Given the description of an element on the screen output the (x, y) to click on. 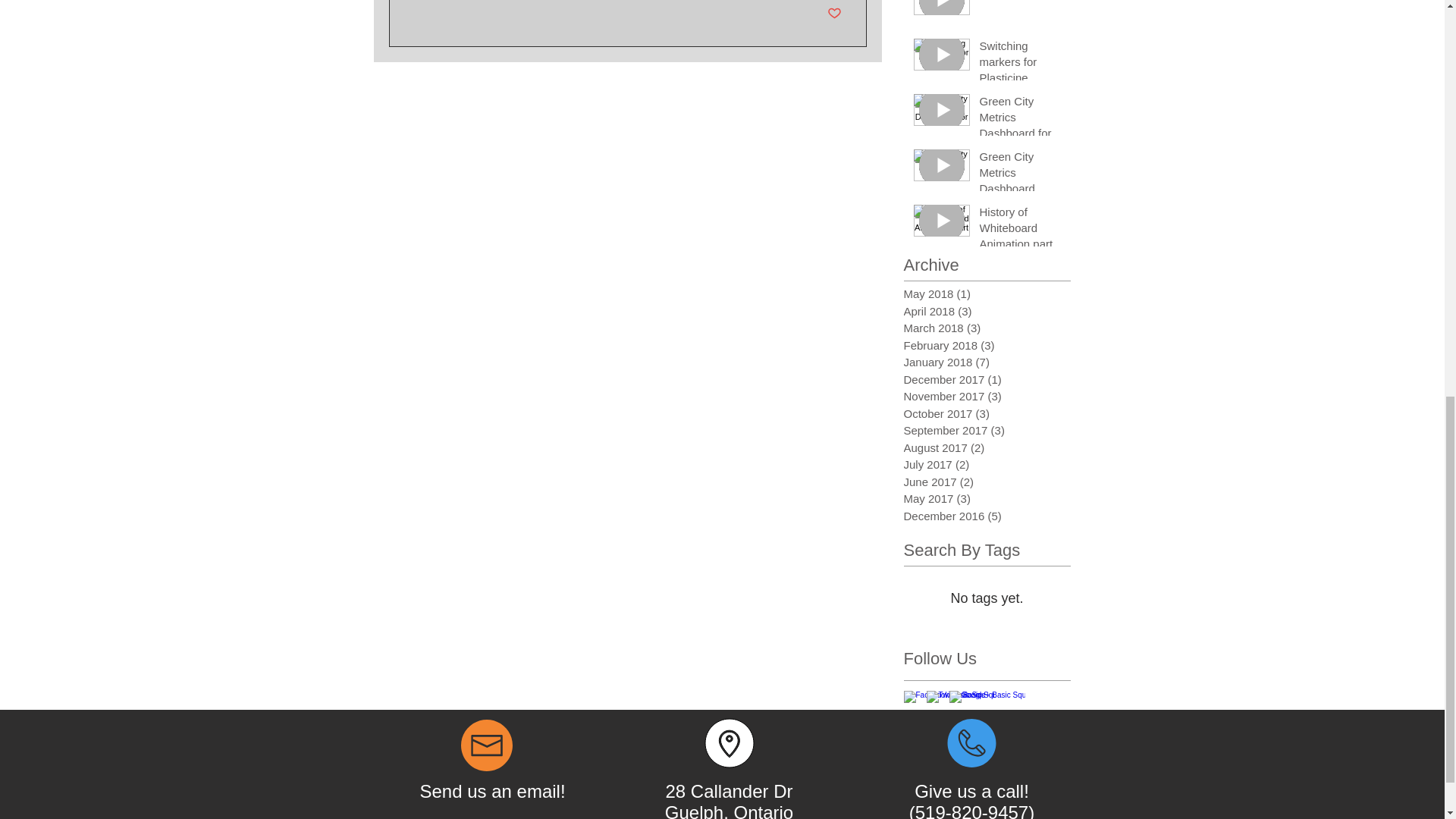
History of Whiteboard Animation part 1 (1020, 238)
Green City Metrics Dashboard for building owners (1020, 127)
CAPP MATH (1020, 2)
Switching markers for Plasticine (1020, 64)
Green City Metrics Dashboard (1020, 175)
Post not marked as liked (834, 13)
